Given the description of an element on the screen output the (x, y) to click on. 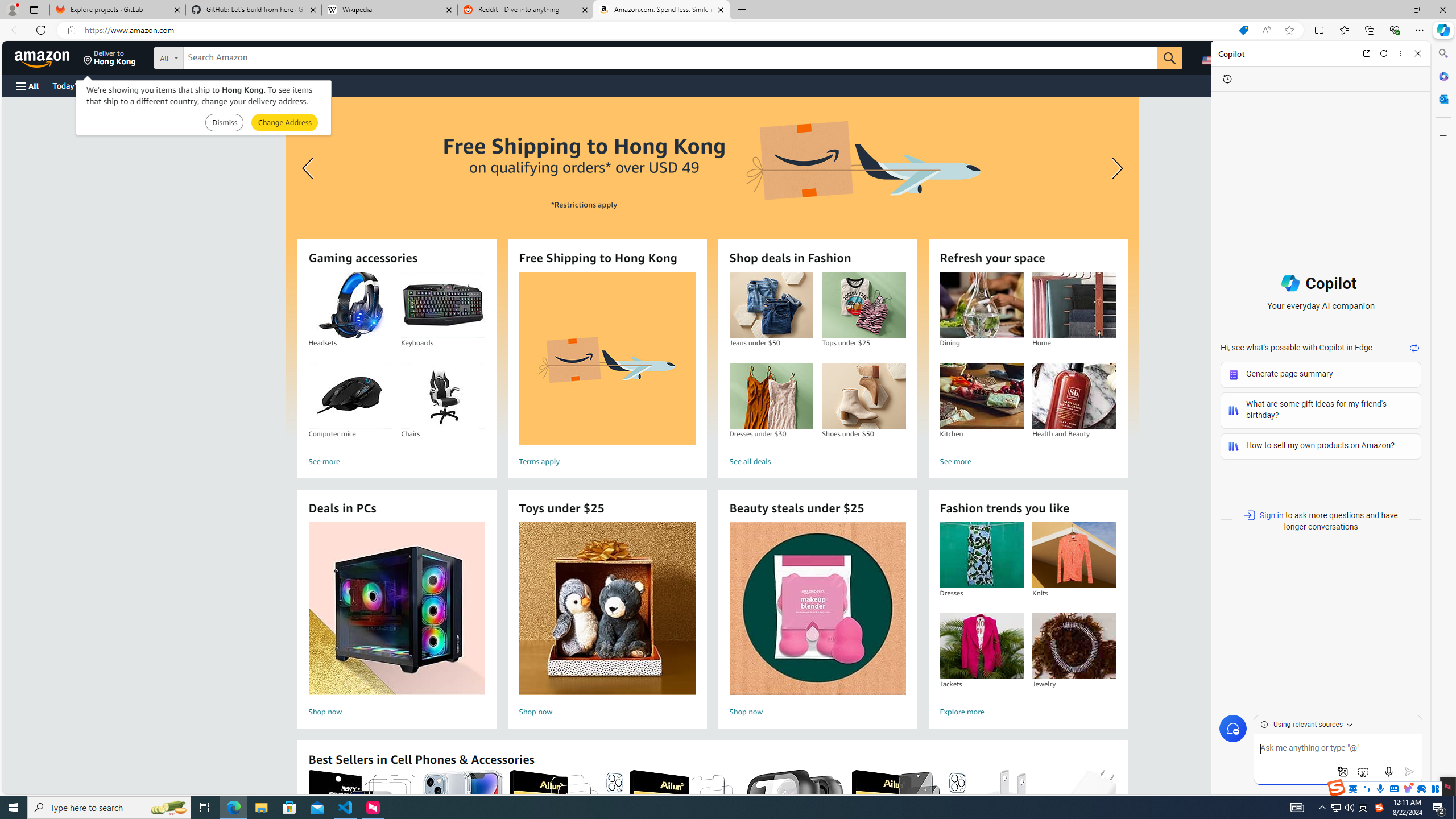
Registry (205, 85)
Today's Deals (76, 85)
Jackets (981, 645)
Returns & Orders (1340, 57)
Toys under $25 Shop now (606, 620)
Headsets (350, 304)
